Given the description of an element on the screen output the (x, y) to click on. 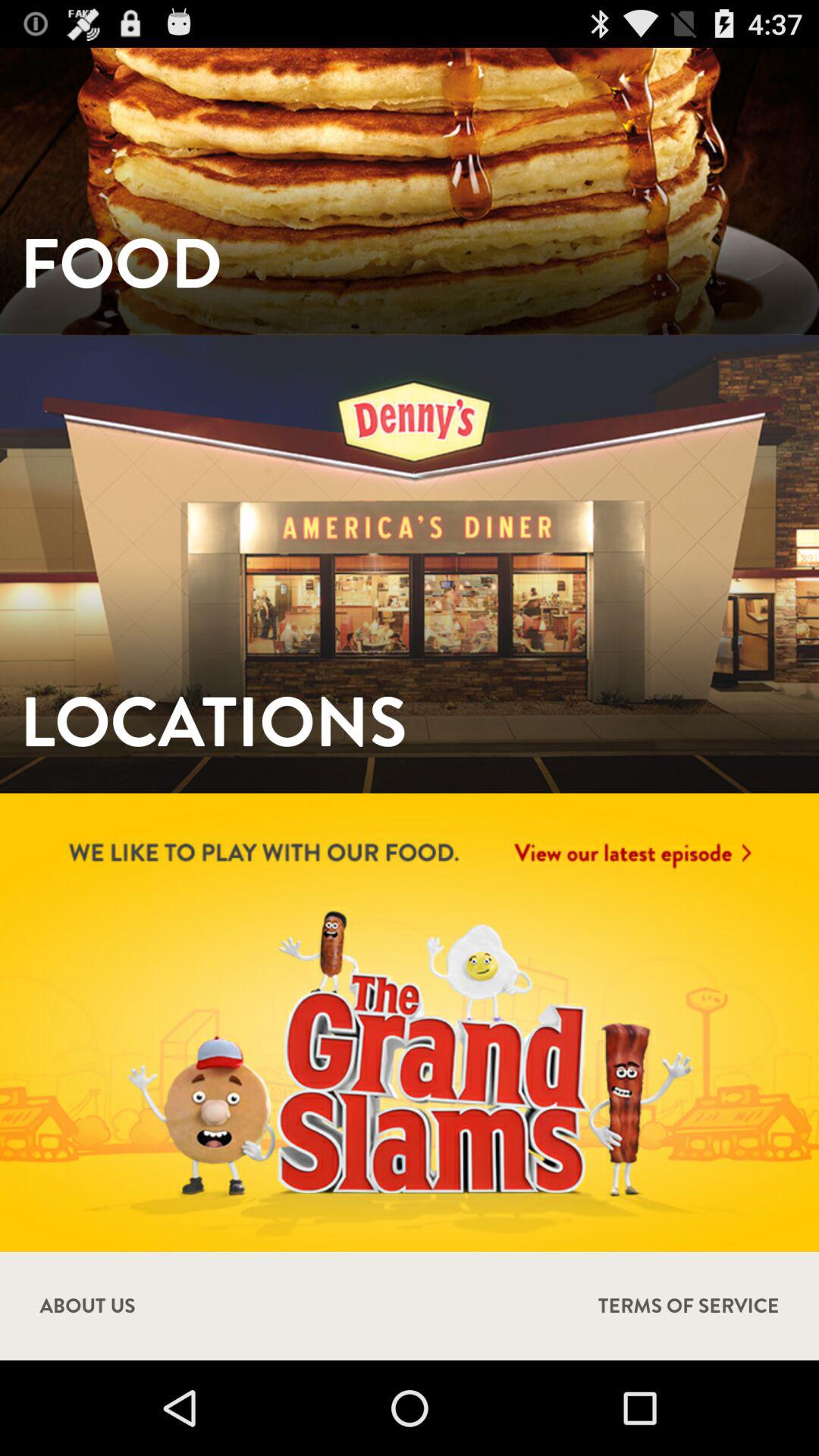
select the about us icon (87, 1305)
